Given the description of an element on the screen output the (x, y) to click on. 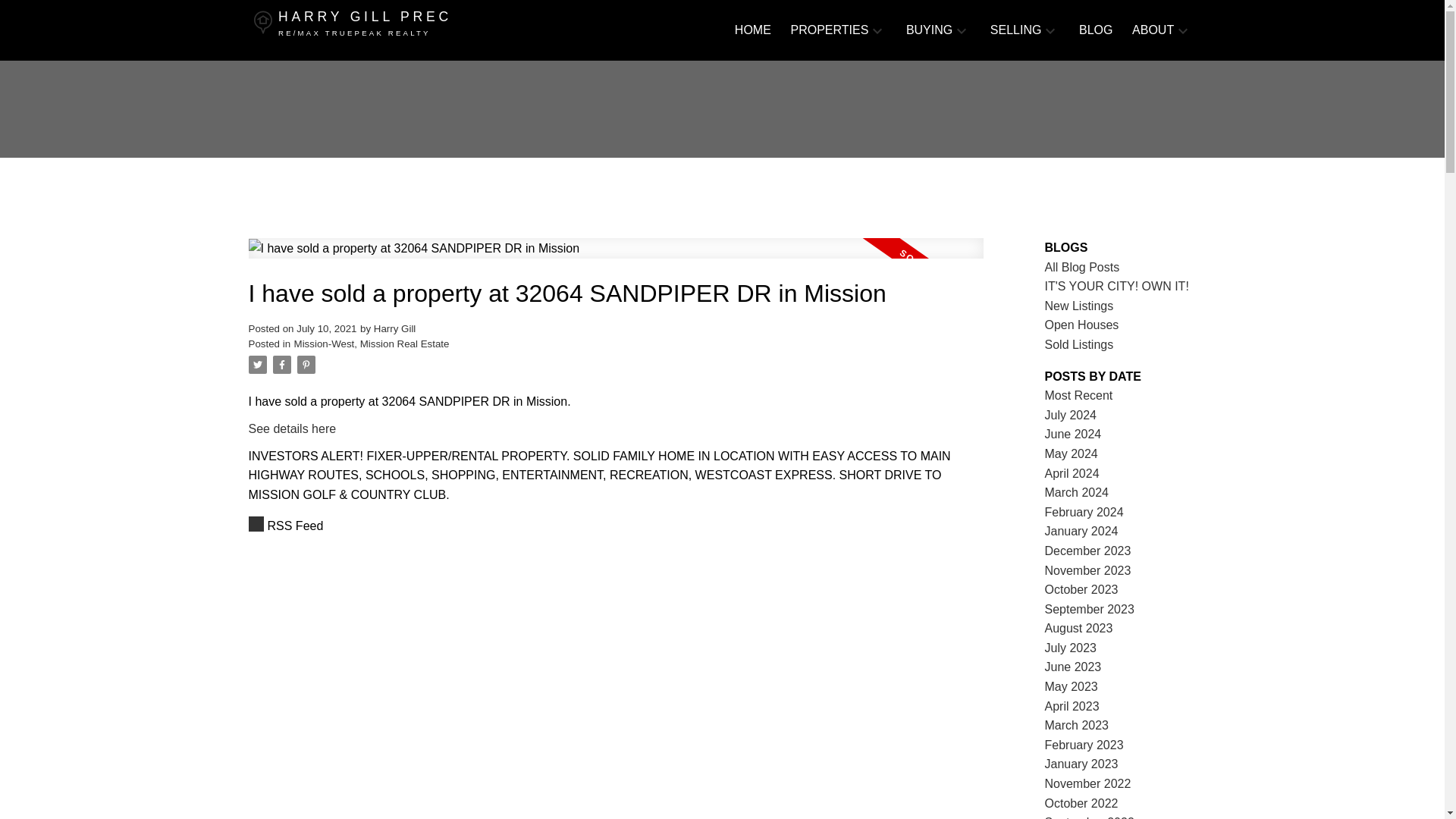
RSS (616, 526)
Sold Listings (1079, 344)
BLOG (1095, 30)
Most Recent (1079, 395)
Mission-West, Mission Real Estate (371, 343)
See details here (292, 428)
IT'S YOUR CITY! OWN IT! (1117, 286)
All Blog Posts (1082, 267)
HOME (753, 30)
New Listings (1079, 305)
July 2024 (1071, 414)
Open Houses (1082, 324)
